Given the description of an element on the screen output the (x, y) to click on. 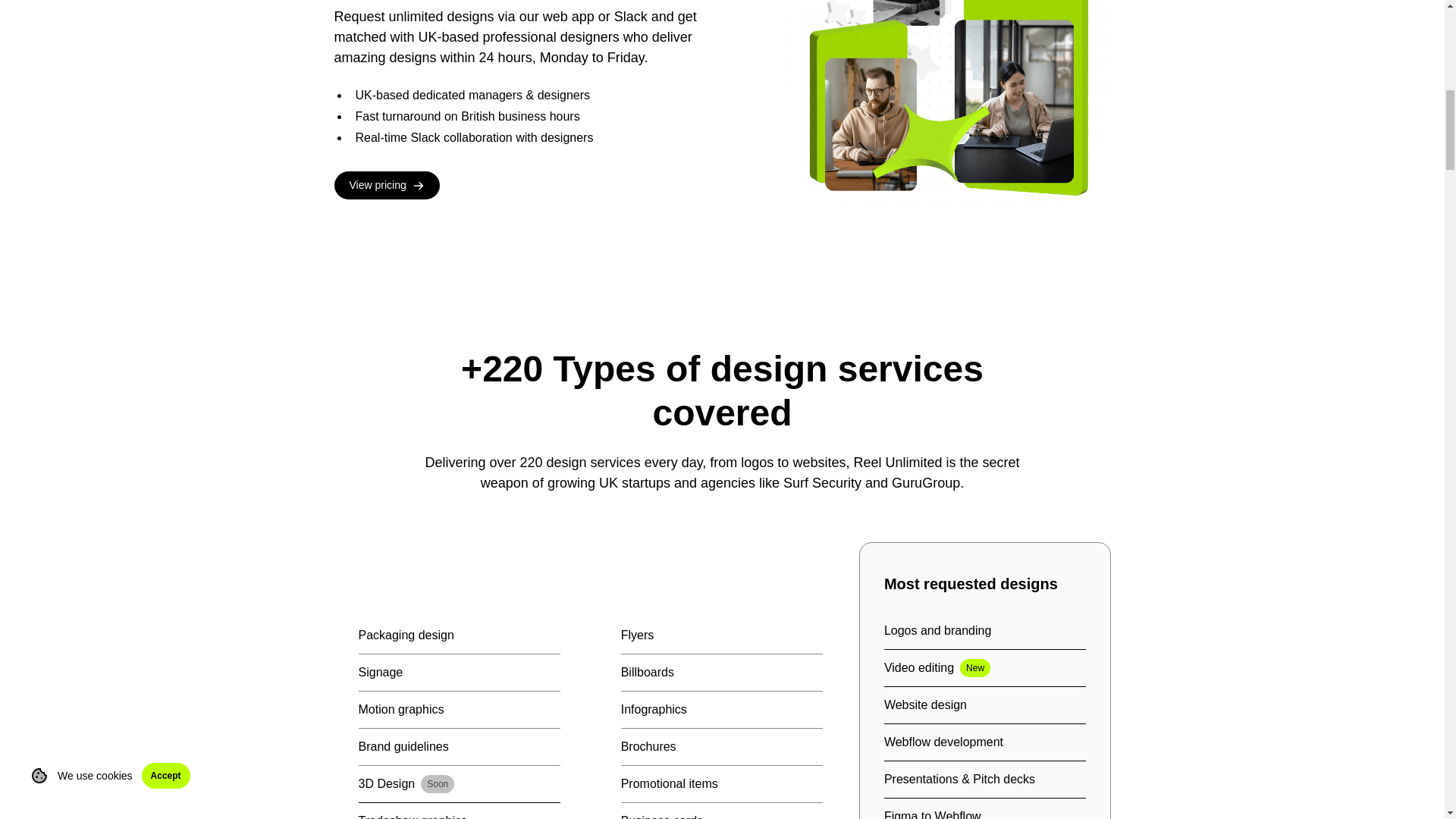
View pricing (386, 185)
Motion graphics (984, 673)
